Given the description of an element on the screen output the (x, y) to click on. 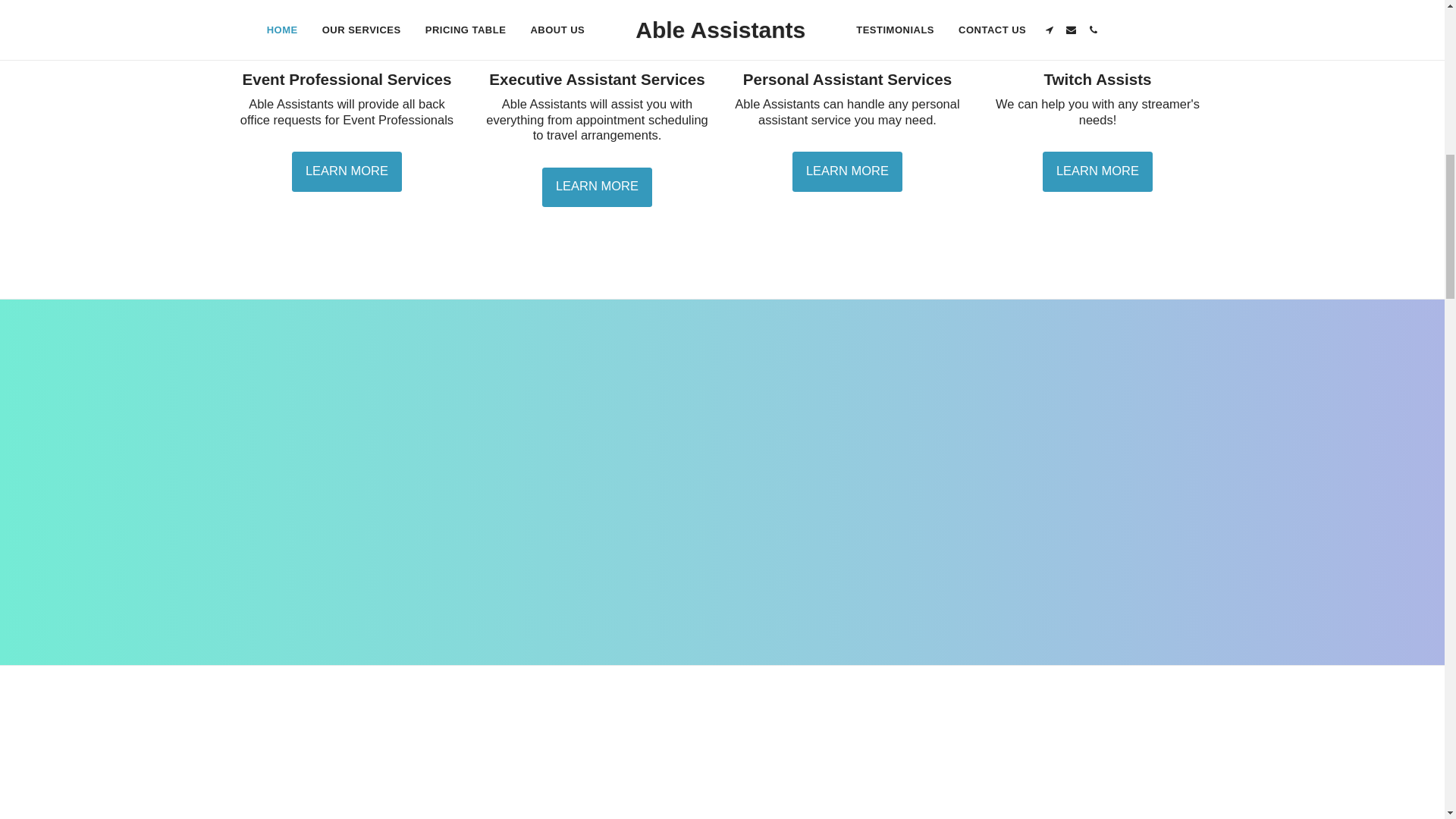
LEARN MORE (847, 171)
LEARN MORE (1097, 171)
LEARN MORE (596, 187)
LEARN MORE (346, 171)
